Given the description of an element on the screen output the (x, y) to click on. 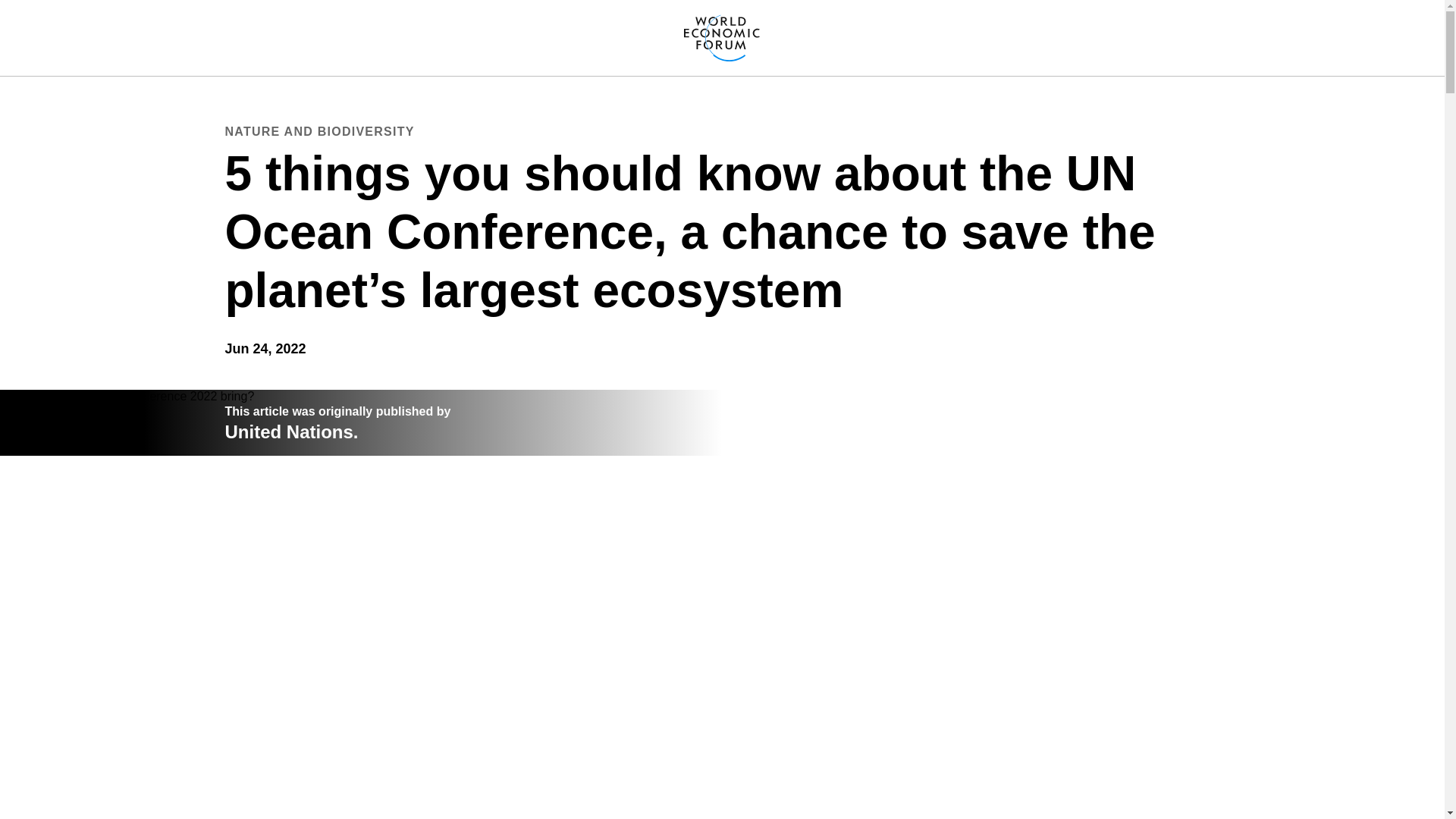
NATURE AND BIODIVERSITY (318, 131)
United Nations (288, 431)
